Given the description of an element on the screen output the (x, y) to click on. 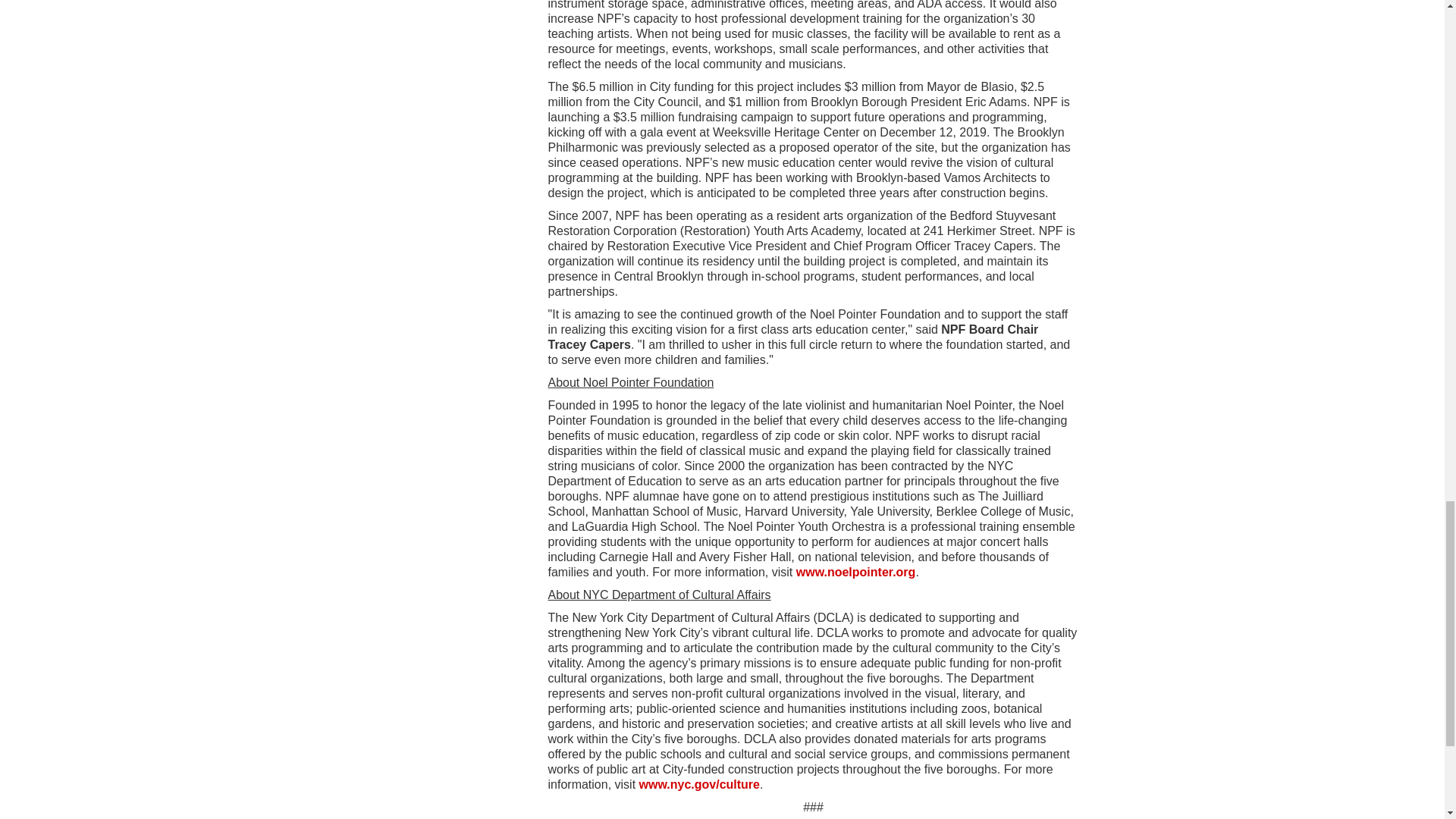
www.noelpointer.org (855, 571)
